Given the description of an element on the screen output the (x, y) to click on. 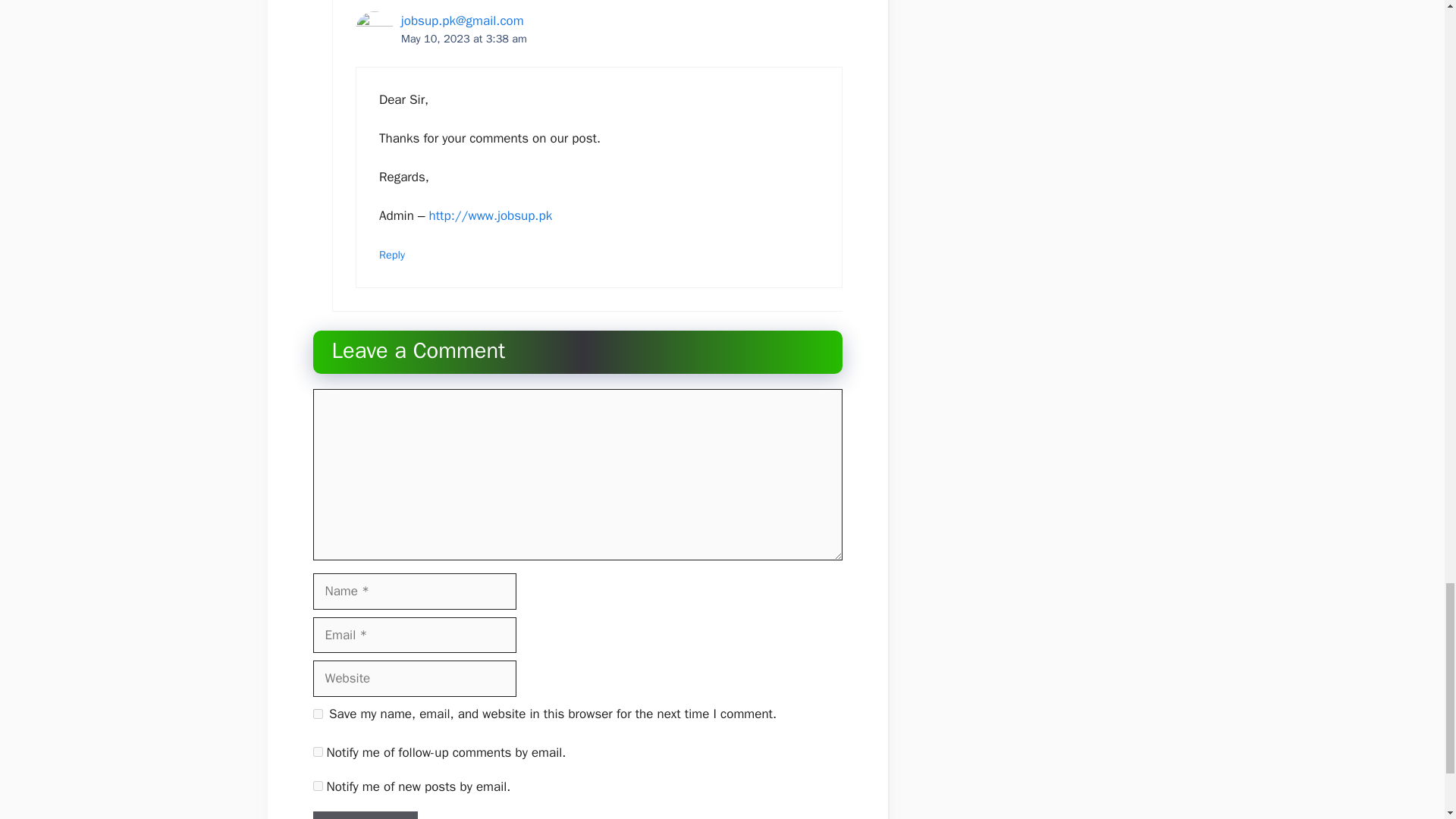
yes (317, 714)
subscribe (317, 786)
Post Comment (364, 815)
subscribe (317, 751)
